Given the description of an element on the screen output the (x, y) to click on. 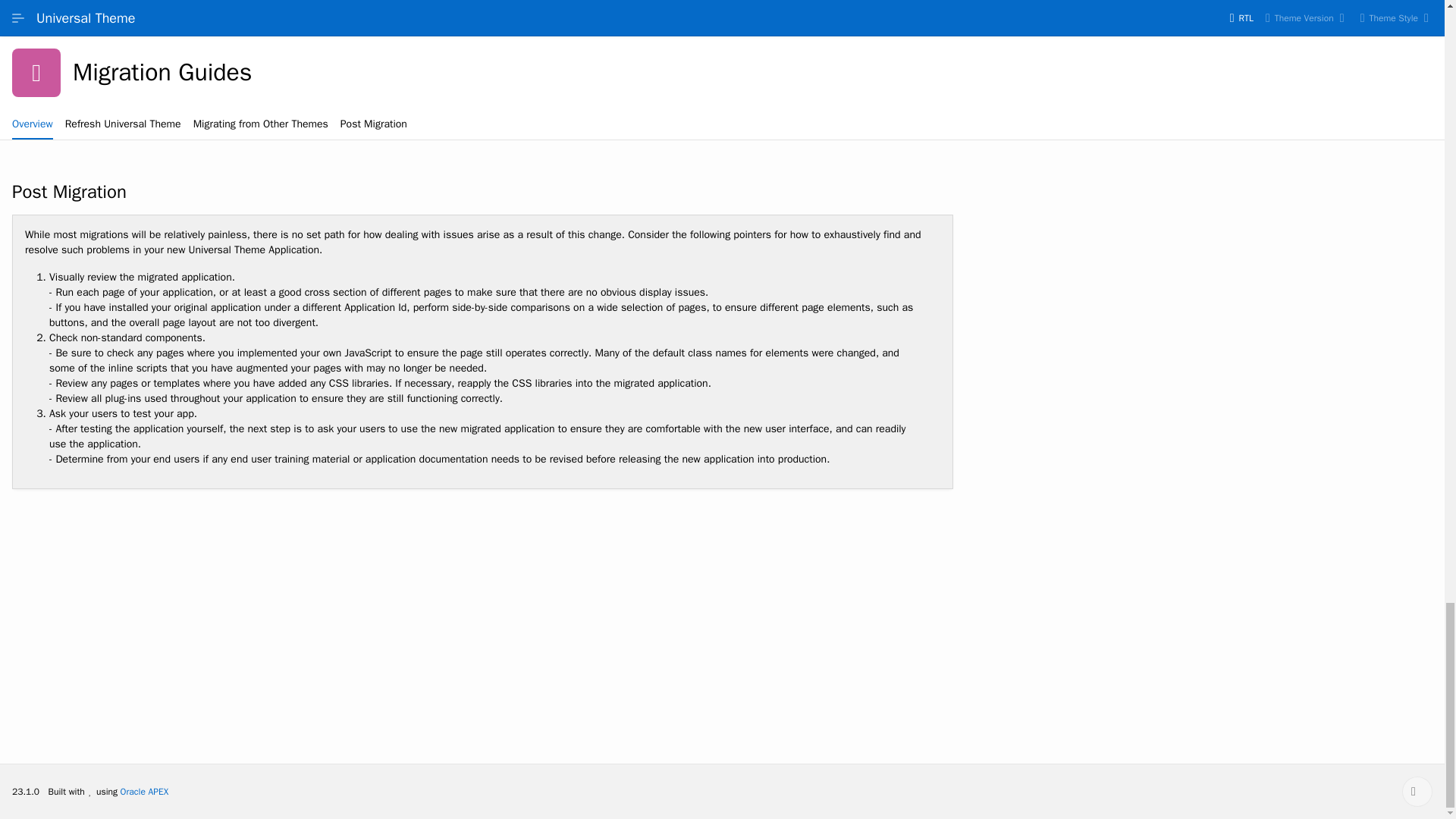
Start of page (1417, 791)
